Given the description of an element on the screen output the (x, y) to click on. 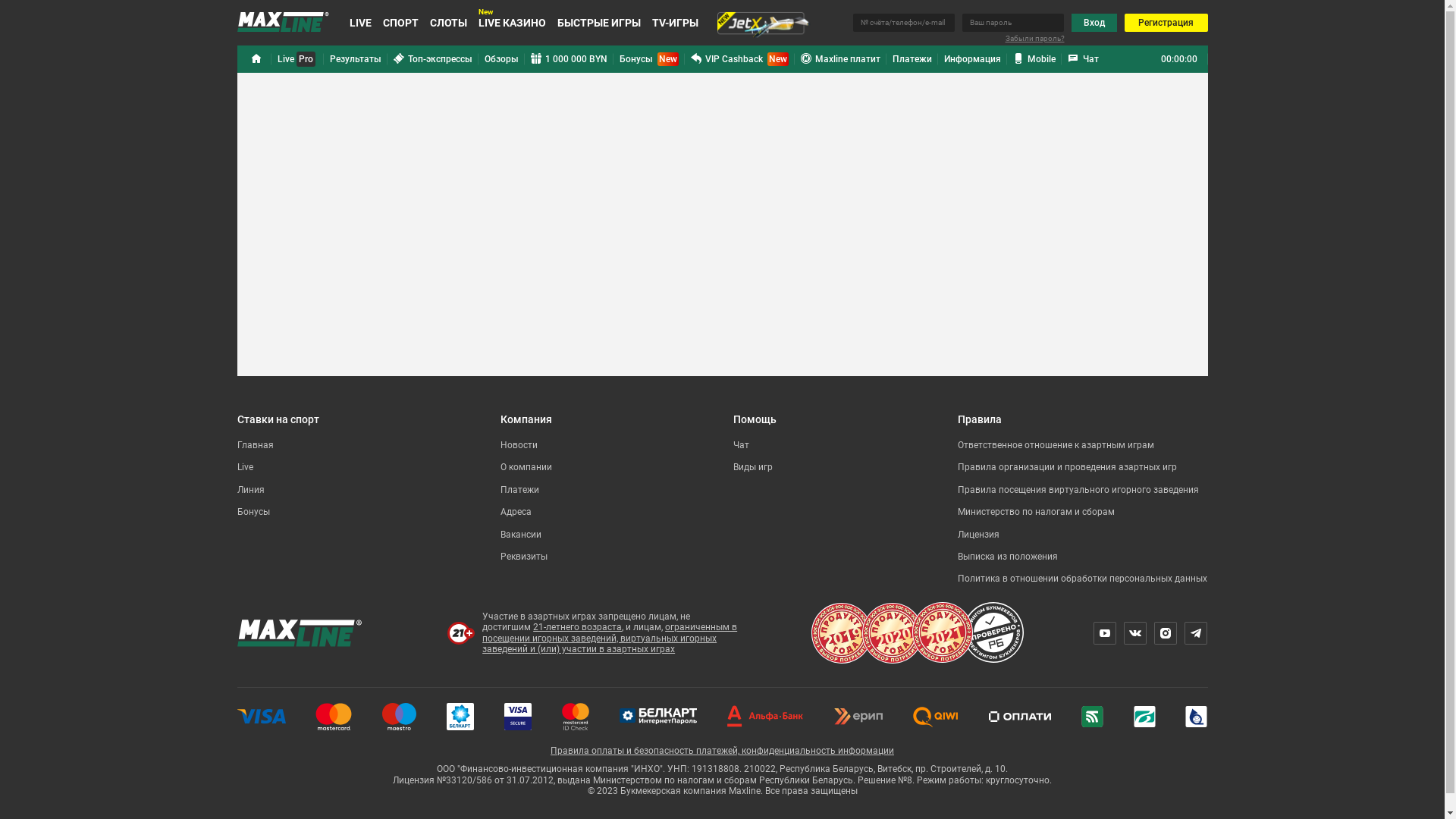
1 000 000 BYN Element type: text (568, 58)
VIP Cashback
New Element type: text (738, 58)
LIVE Element type: text (359, 22)
Live
Pro Element type: text (297, 58)
00:00:00 Element type: text (1178, 58)
Live Element type: text (244, 466)
Mobile Element type: text (1034, 58)
